Given the description of an element on the screen output the (x, y) to click on. 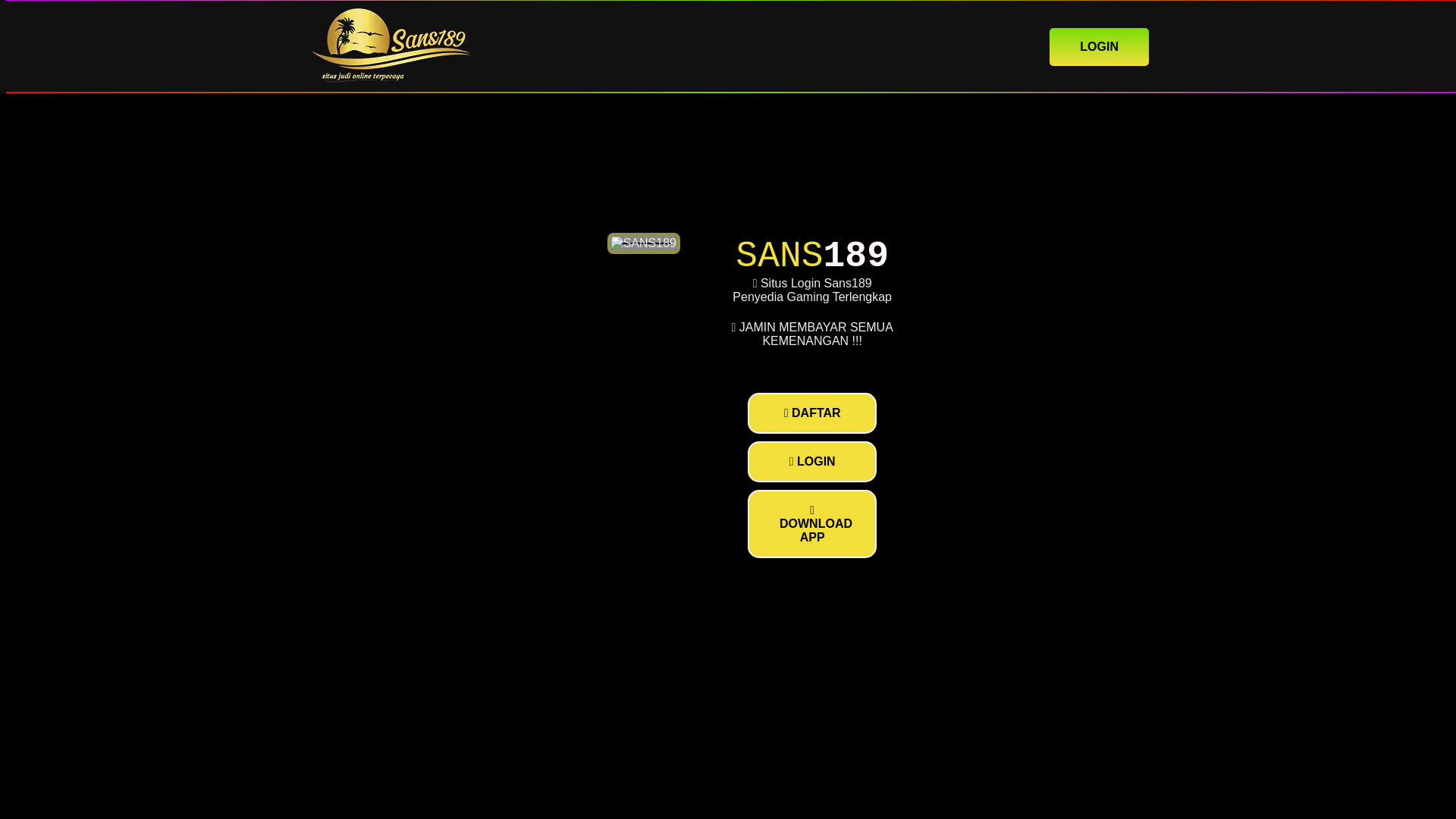
LOGIN (812, 461)
LOGIN (1098, 46)
DOWNLOAD APP (812, 523)
DAFTAR (812, 413)
